Given the description of an element on the screen output the (x, y) to click on. 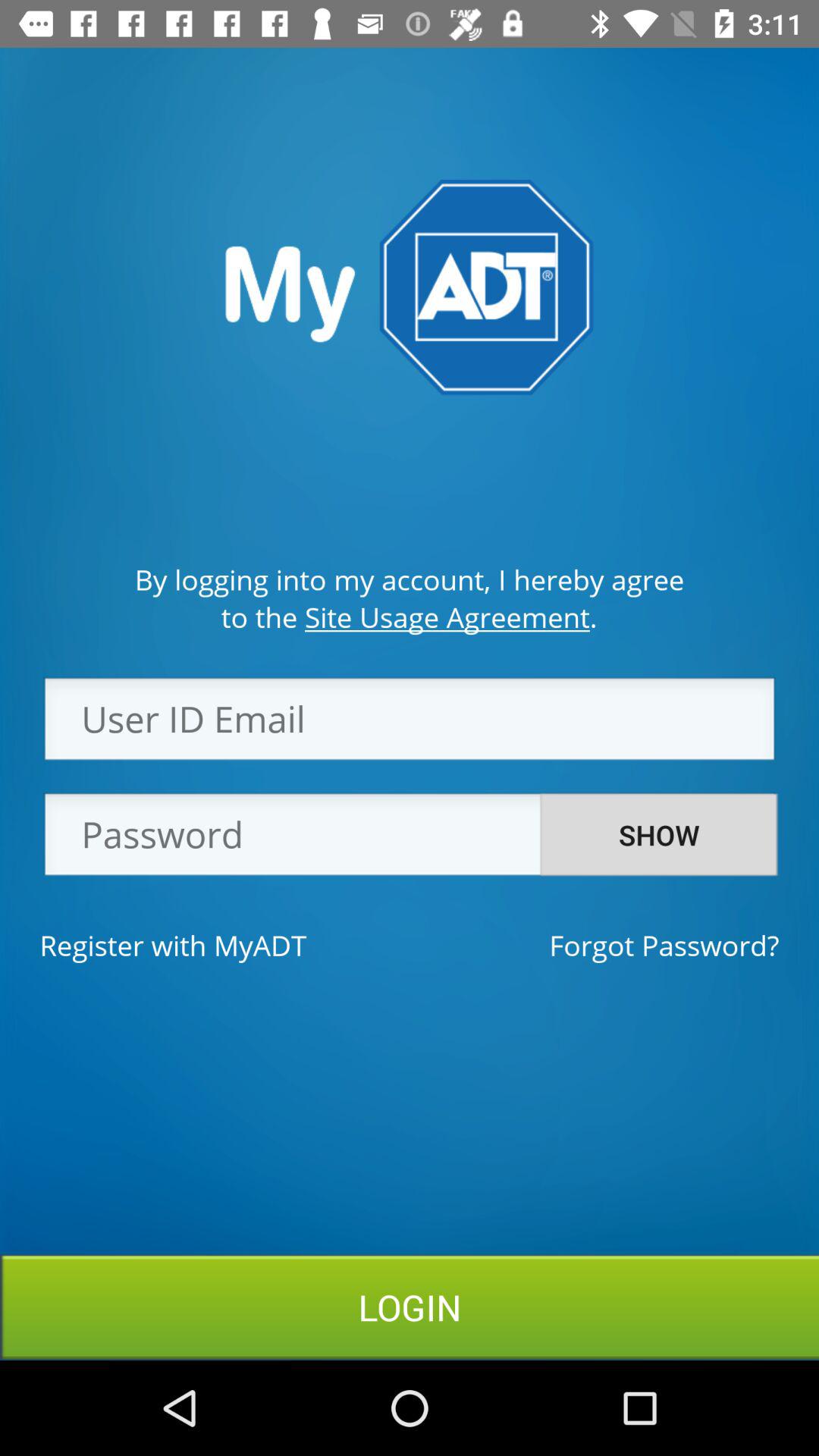
launch the icon above forgot password? (659, 835)
